Given the description of an element on the screen output the (x, y) to click on. 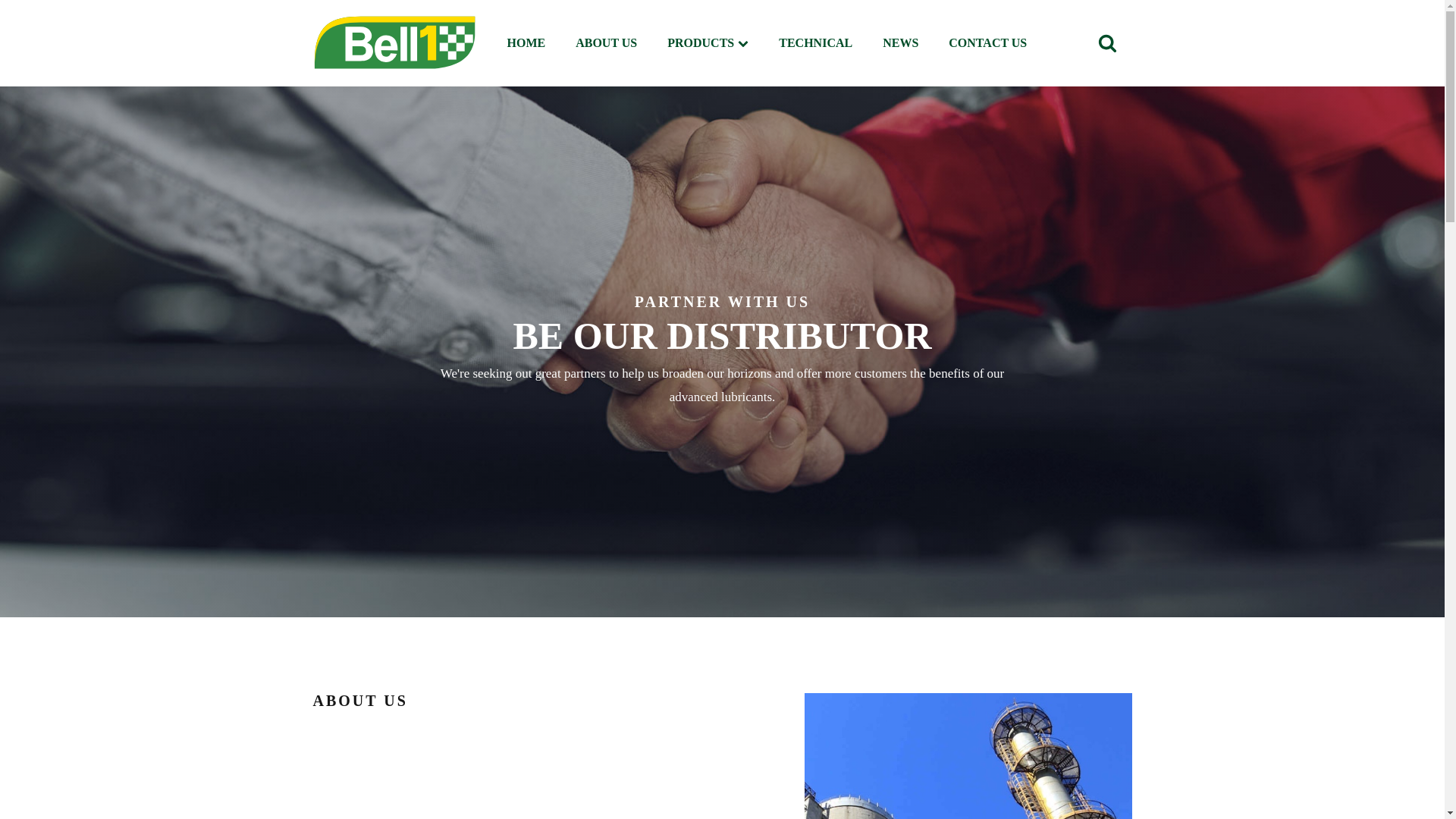
HOME (526, 43)
CONTACT US (987, 43)
NEWS (900, 43)
ABOUT US (606, 43)
PRODUCTS (699, 43)
TECHNICAL (814, 43)
